Given the description of an element on the screen output the (x, y) to click on. 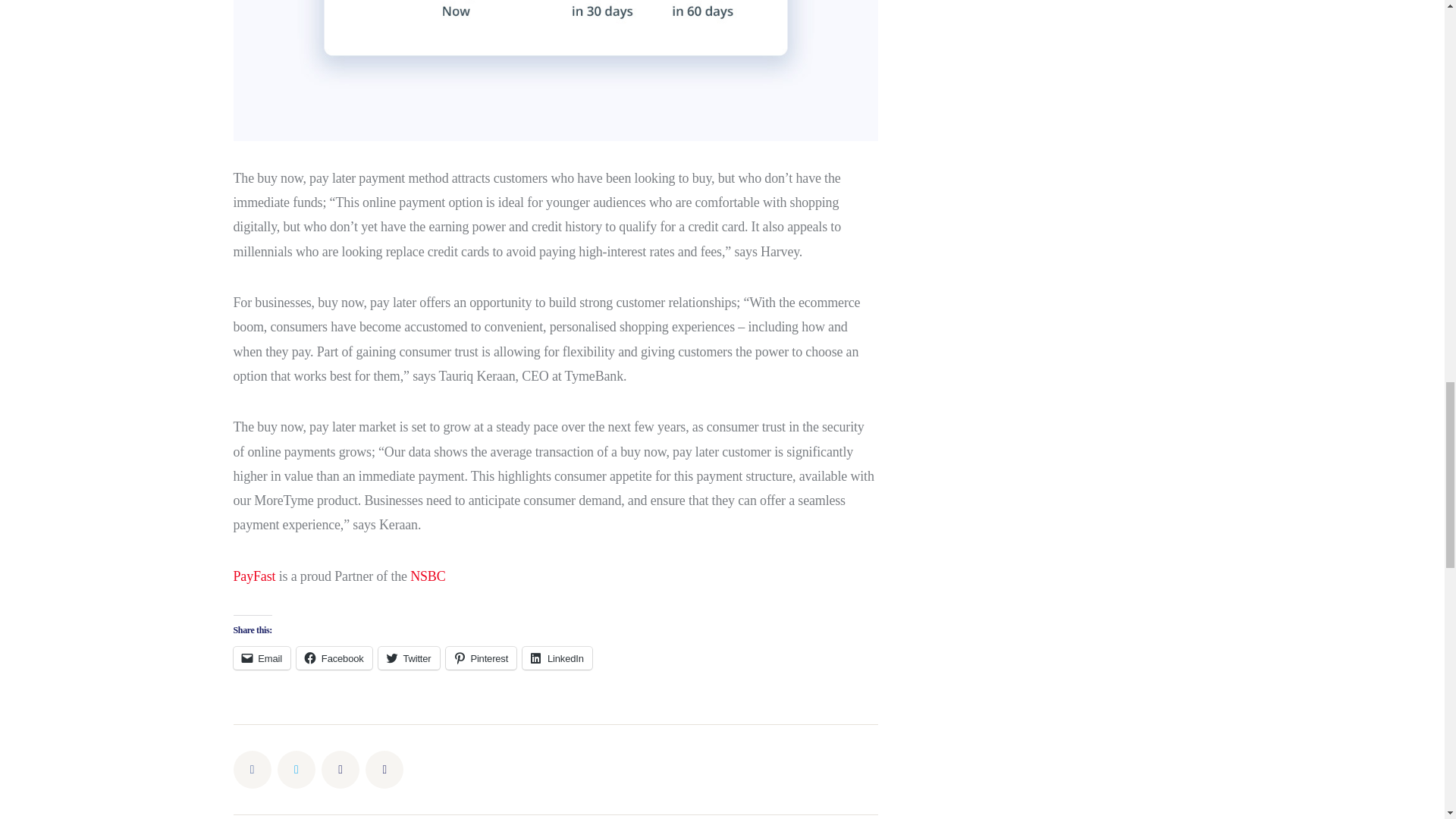
Click to share on LinkedIn (557, 658)
Click to share on Facebook (334, 658)
PayFast (254, 575)
Click to share on Twitter (408, 658)
Copy URL to clipboard (384, 769)
Click to share on Pinterest (480, 658)
Click to email a link to a friend (261, 658)
